Given the description of an element on the screen output the (x, y) to click on. 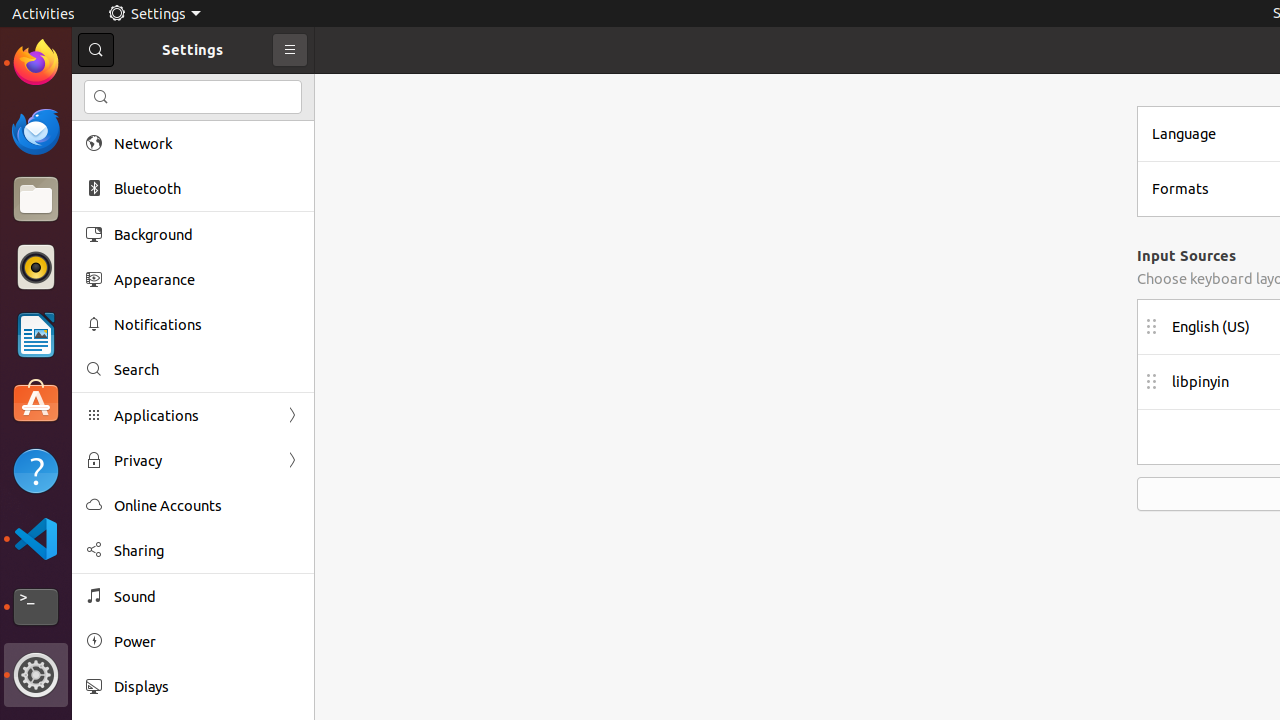
Settings Element type: menu (154, 13)
li.txt Element type: label (259, 89)
Firefox Web Browser Element type: push-button (36, 63)
Input Sources Element type: label (1186, 255)
